Given the description of an element on the screen output the (x, y) to click on. 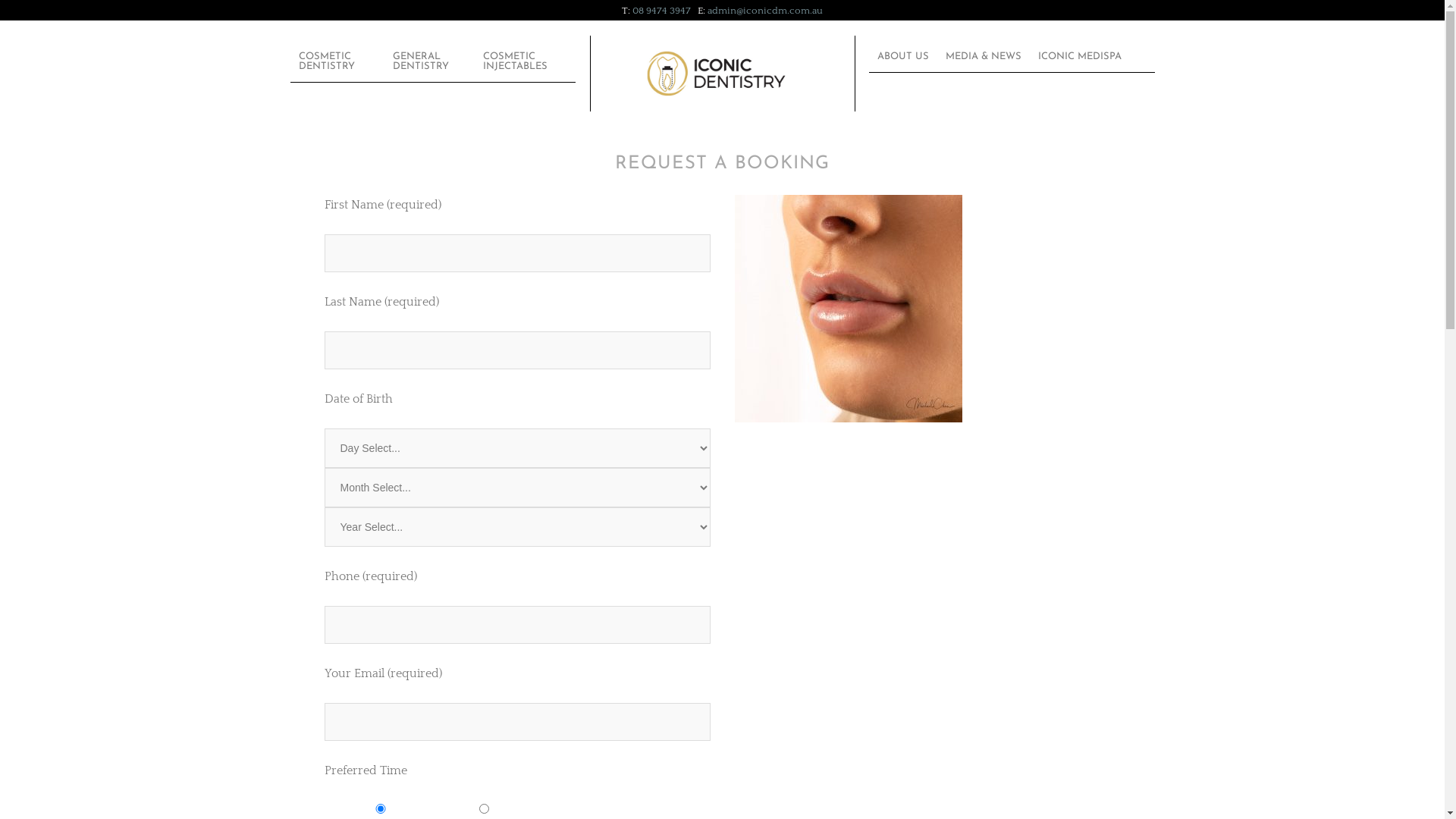
ICONIC MEDISPA Element type: text (1079, 55)
COSMETIC DENTISTRY Element type: text (336, 60)
ABOUT US Element type: text (903, 55)
admin@iconicdm.com.au Element type: text (764, 10)
COSMETIC INJECTABLES Element type: text (524, 60)
08 9474 3947 Element type: text (661, 10)
GENERAL DENTISTRY Element type: text (429, 60)
ICONIC DENTISTRY Element type: text (749, 73)
MEDIA & NEWS Element type: text (983, 55)
